Given the description of an element on the screen output the (x, y) to click on. 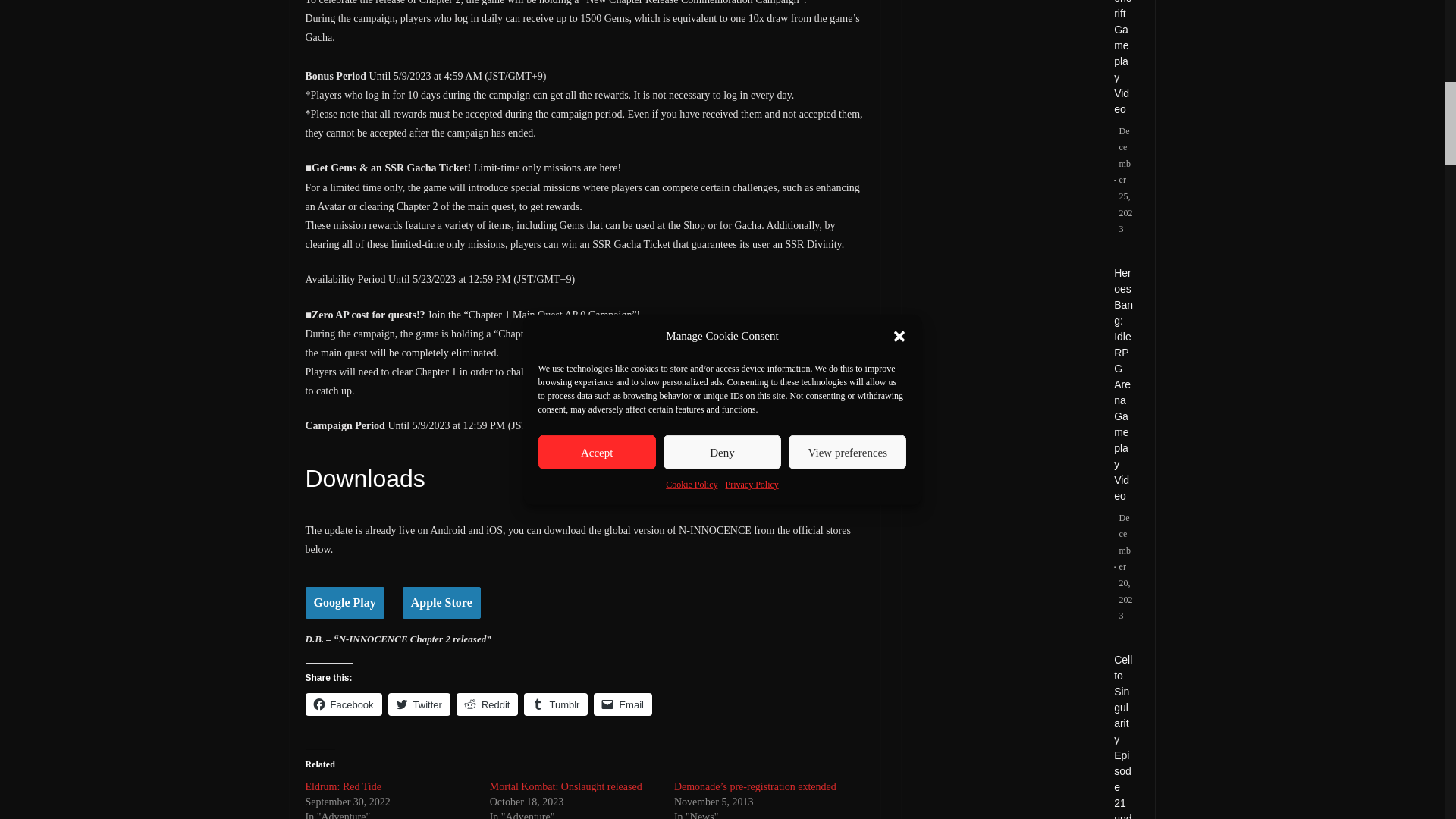
Click to share on Reddit (487, 703)
Click to share on Facebook (342, 703)
Click to email a link to a friend (623, 703)
Click to share on Twitter (418, 703)
Mortal Kombat: Onslaught released (565, 786)
Click to share on Tumblr (556, 703)
Eldrum: Red Tide (342, 786)
